Given the description of an element on the screen output the (x, y) to click on. 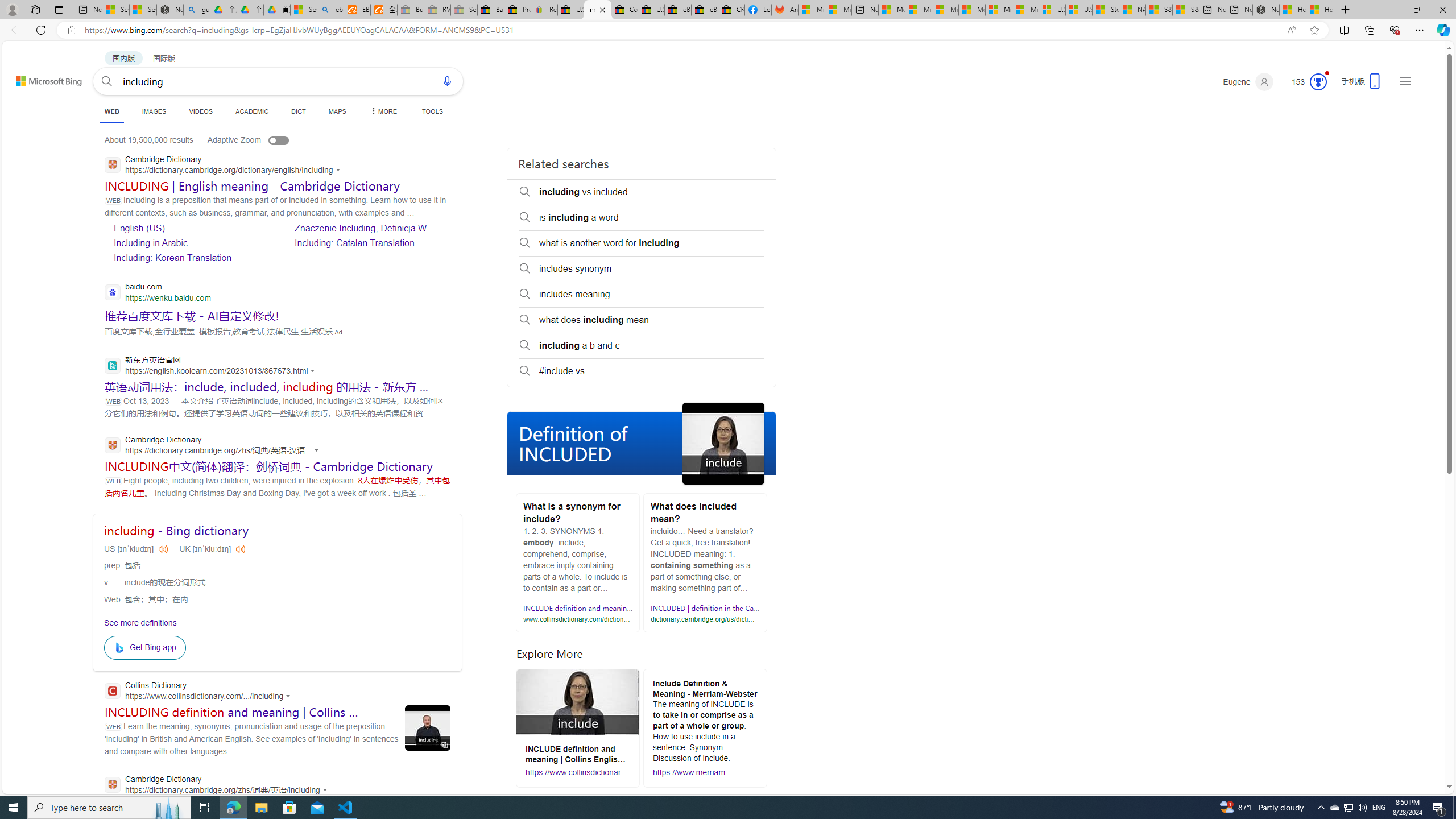
including vs included (641, 191)
Definition of INCLUDED (641, 443)
Global web icon (111, 784)
Microsoft account | Home (945, 9)
Class: dict_pn_play (239, 548)
eBay Inc. Reports Third Quarter 2023 Results (703, 9)
Dropdown Menu (382, 111)
